Given the description of an element on the screen output the (x, y) to click on. 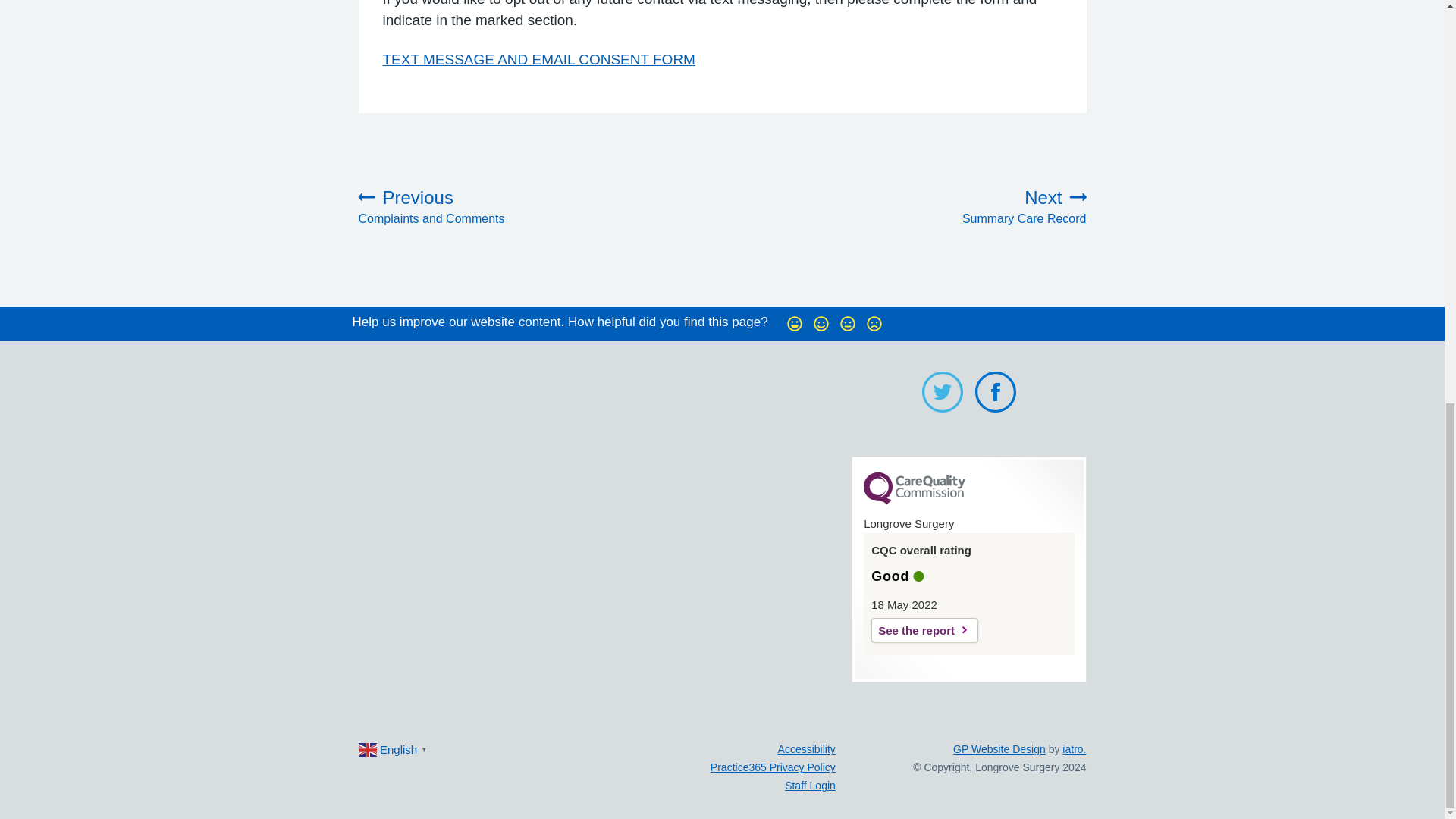
CQC Logo (914, 500)
